Given the description of an element on the screen output the (x, y) to click on. 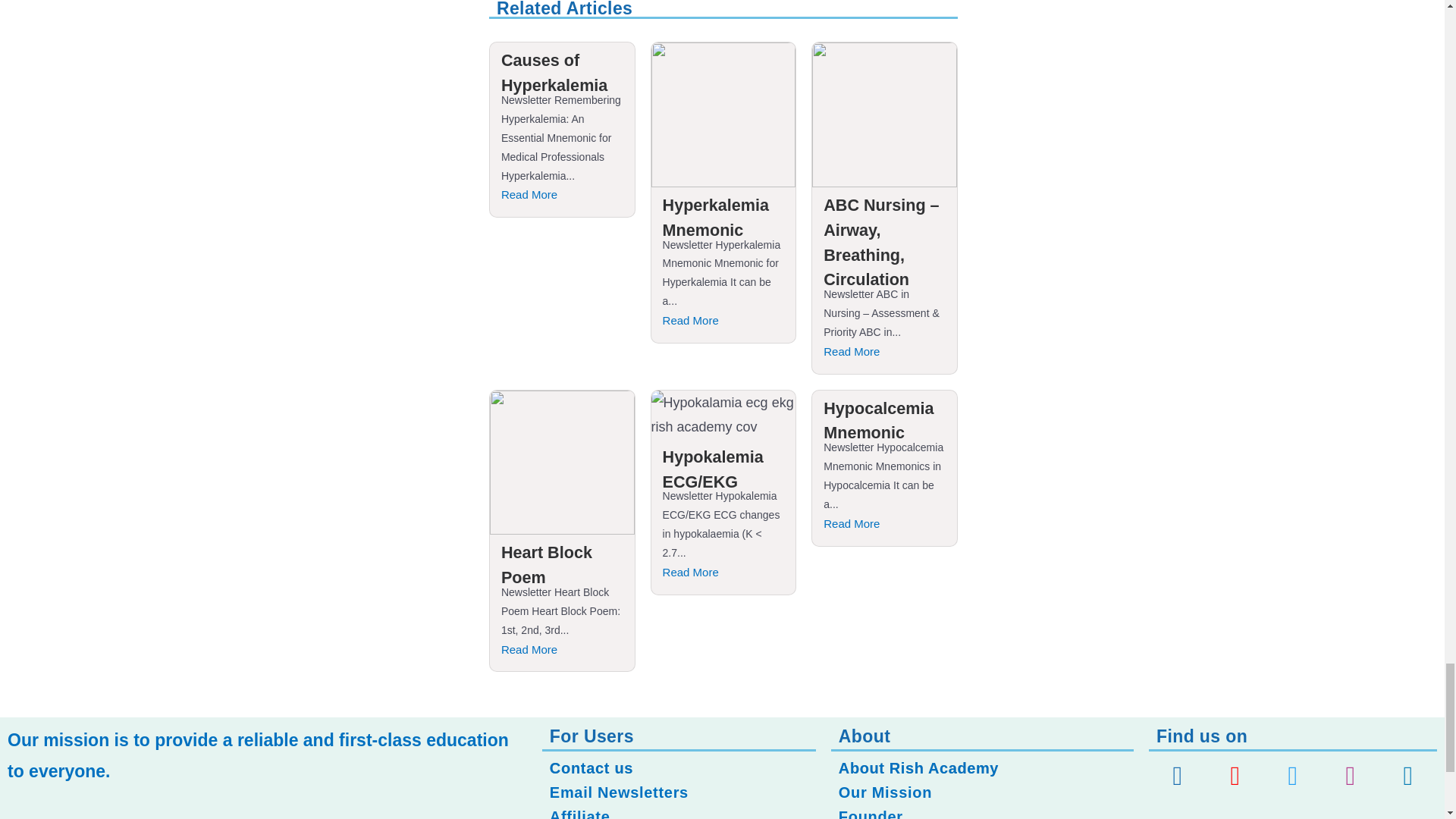
Causes of Hyperkalemia (553, 72)
Heart Block Poem (546, 564)
Read More (723, 572)
Hyperkalemia Mnemonic (715, 217)
Read More (723, 321)
Read More (561, 195)
Heart Block Poem (546, 564)
Hypocalcemia Mnemonic (878, 420)
Read More (884, 352)
Read More (561, 649)
Hypocalcemia Mnemonic (878, 420)
Causes of Hyperkalemia (553, 72)
Hyperkalemia Mnemonic (715, 217)
Read More (884, 524)
